Given the description of an element on the screen output the (x, y) to click on. 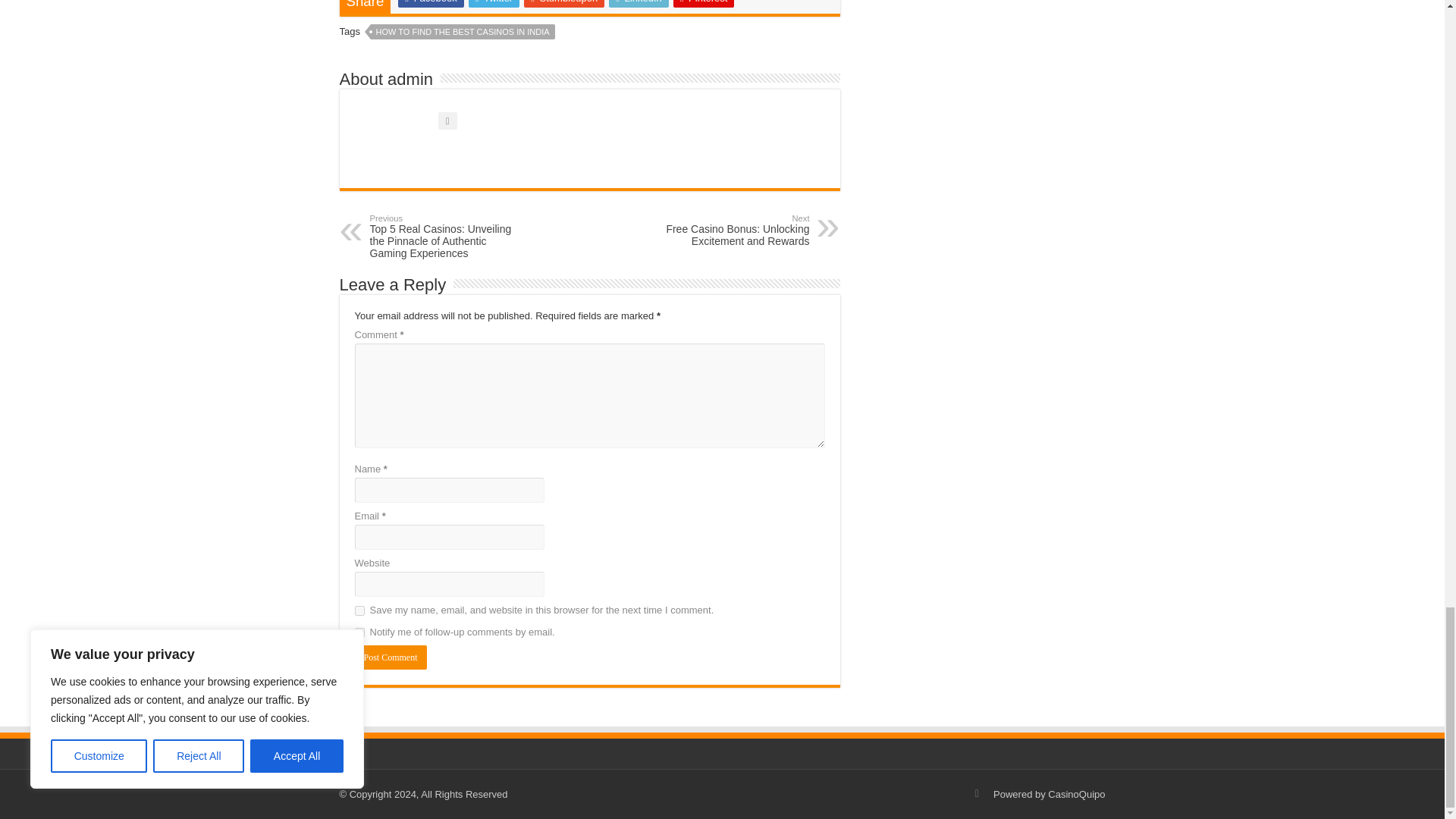
subscribe (360, 633)
yes (360, 610)
Post Comment (390, 657)
